Given the description of an element on the screen output the (x, y) to click on. 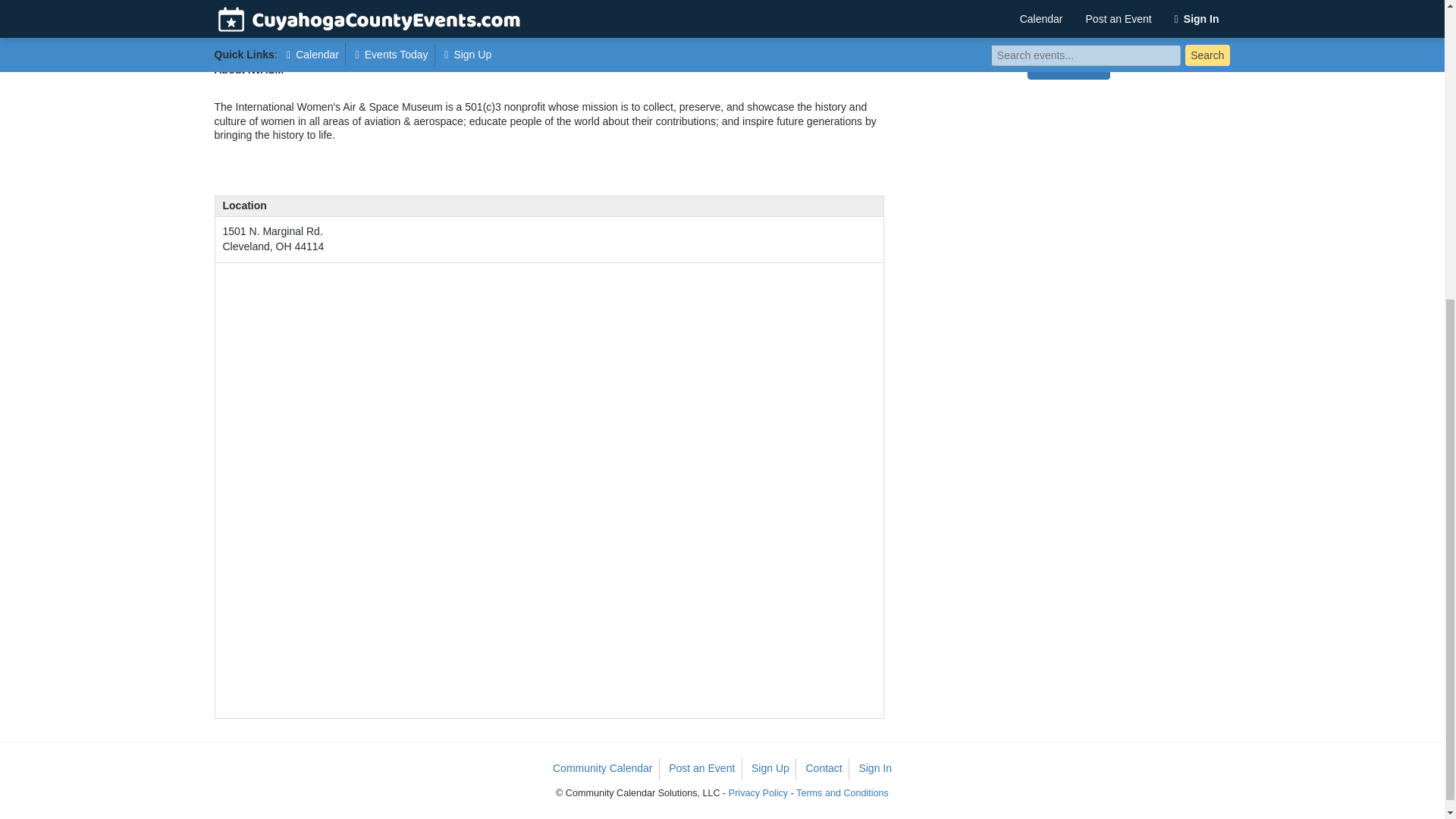
Full Calendar (1068, 66)
Terms and Conditions (842, 792)
Post an Event (702, 768)
Sign In (874, 768)
Privacy Policy (758, 792)
Sign Up (770, 768)
Community Calendar (603, 768)
Contact (823, 768)
